Given the description of an element on the screen output the (x, y) to click on. 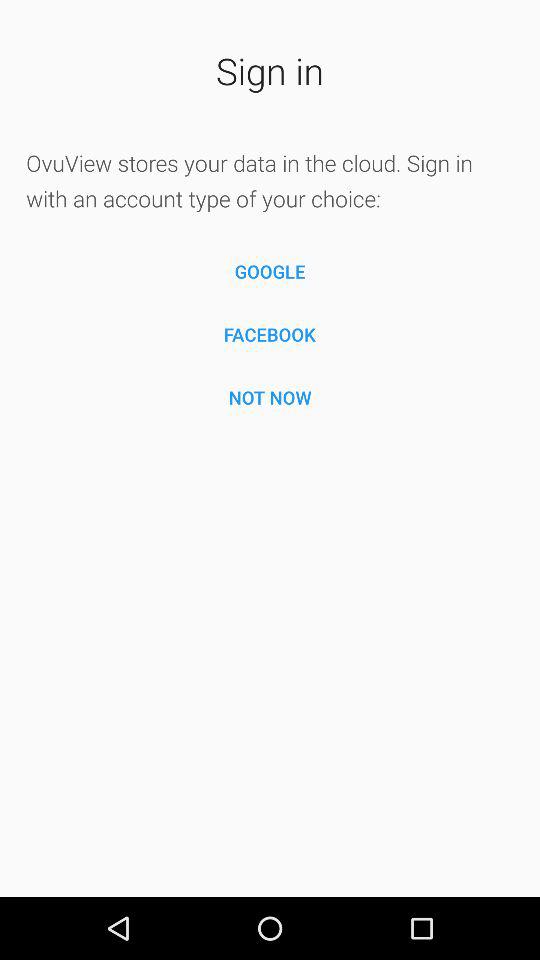
swipe to not now icon (269, 397)
